Given the description of an element on the screen output the (x, y) to click on. 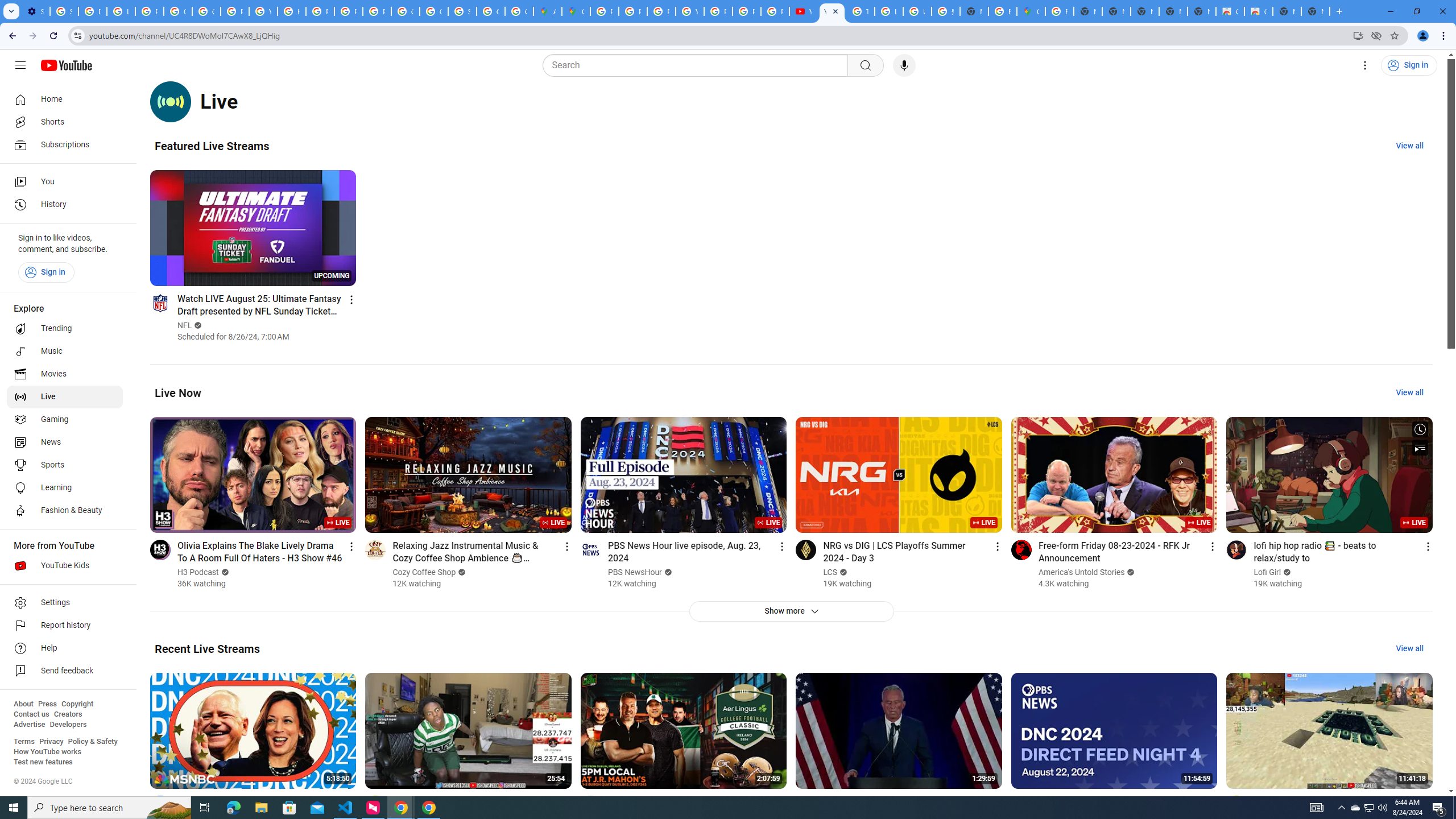
Google Maps (575, 11)
YouTube (831, 11)
YouTube (803, 11)
About (23, 703)
Live Now (178, 392)
YouTube Kids (64, 565)
Privacy Checkup (746, 11)
Guide (20, 65)
Create your Google Account (518, 11)
Explore new street-level details - Google Maps Help (1002, 11)
